Given the description of an element on the screen output the (x, y) to click on. 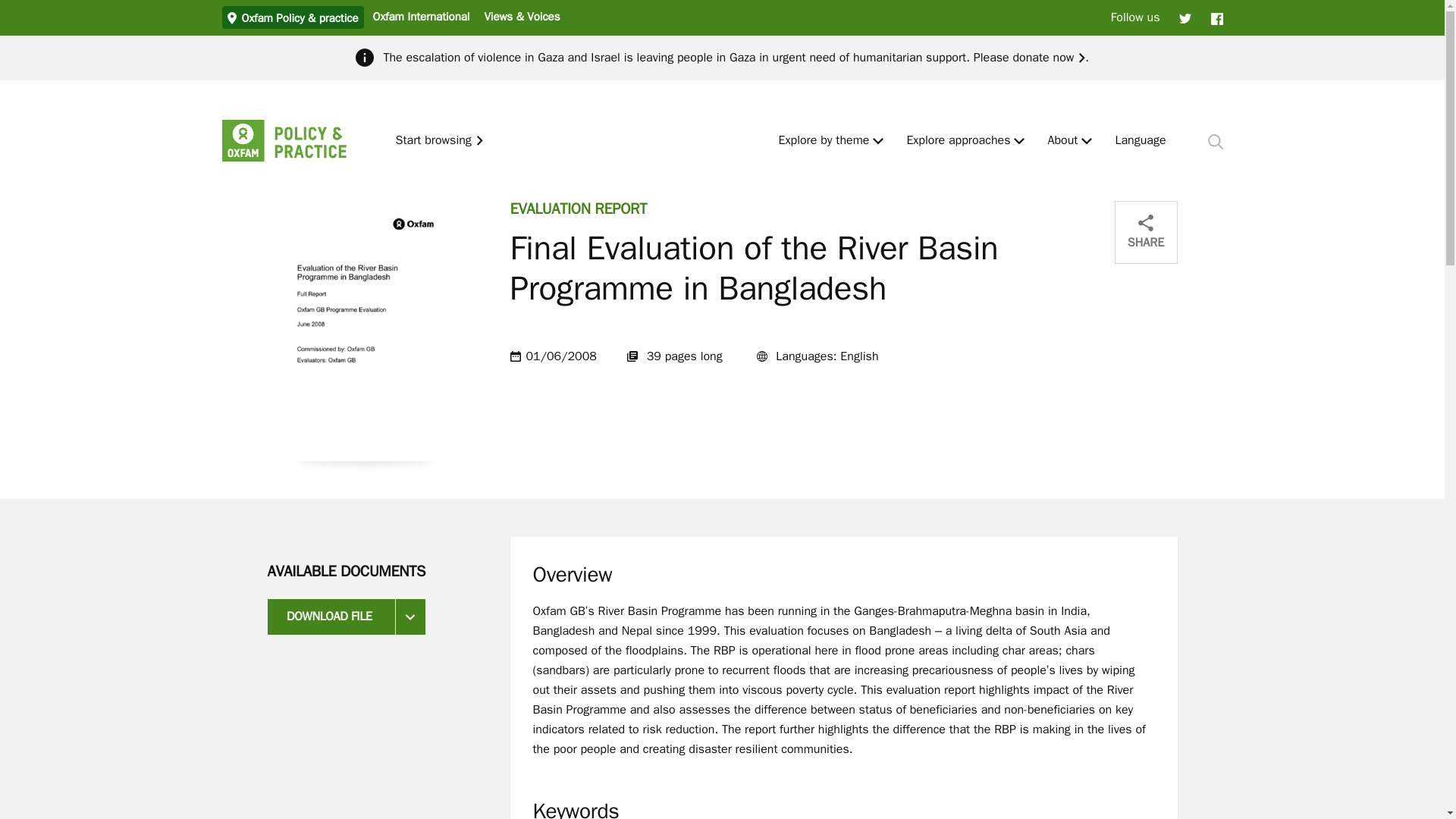
Explore approaches (957, 140)
Search (1215, 140)
Menu toggle (1019, 141)
Menu toggle (877, 141)
Start browsing (439, 140)
Skip to content (11, 5)
Explore by theme (823, 140)
Oxfam International (420, 16)
Facebook (1216, 17)
About (1061, 140)
